Given the description of an element on the screen output the (x, y) to click on. 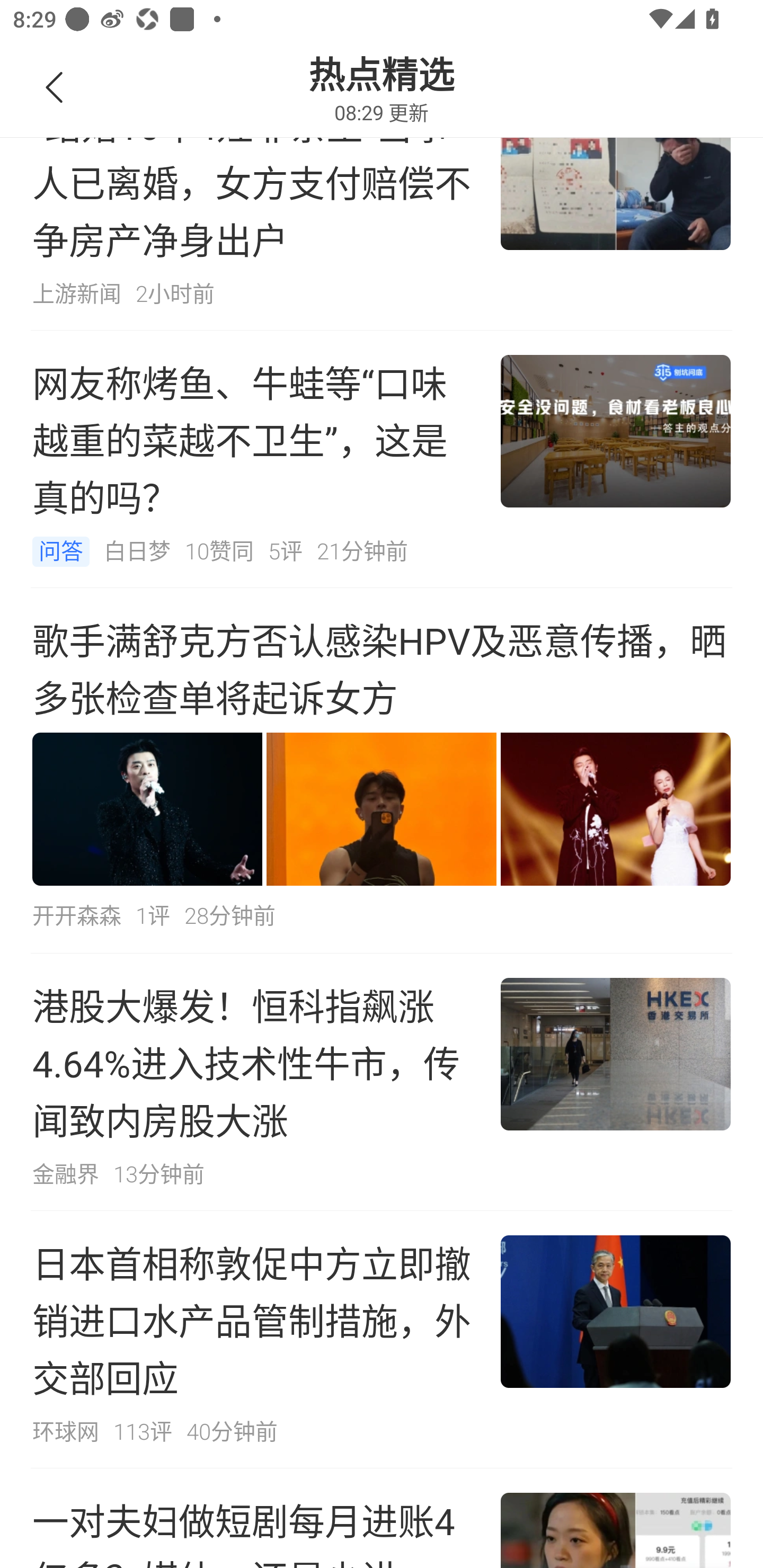
 返回 热点精选 08:29 更新 (381, 68)
 返回 (54, 87)
“结婚16年4娃非亲生”当事人已离婚，女方支付赔偿不争房产净身出户 上游新闻 2小时前 (381, 201)
网友称烤鱼、牛蛙等“口味越重的菜越不卫生”，这是真的吗？ 问答 白日梦 10赞同 5评 21分钟前 (381, 459)
港股大爆发！恒科指飙涨4.64%进入技术性牛市，传闻致内房股大涨 金融界 13分钟前 (381, 1081)
日本首相称敦促中方立即撤销进口水产品管制措施，外交部回应 环球网 113评 40分钟前 (381, 1338)
